Given the description of an element on the screen output the (x, y) to click on. 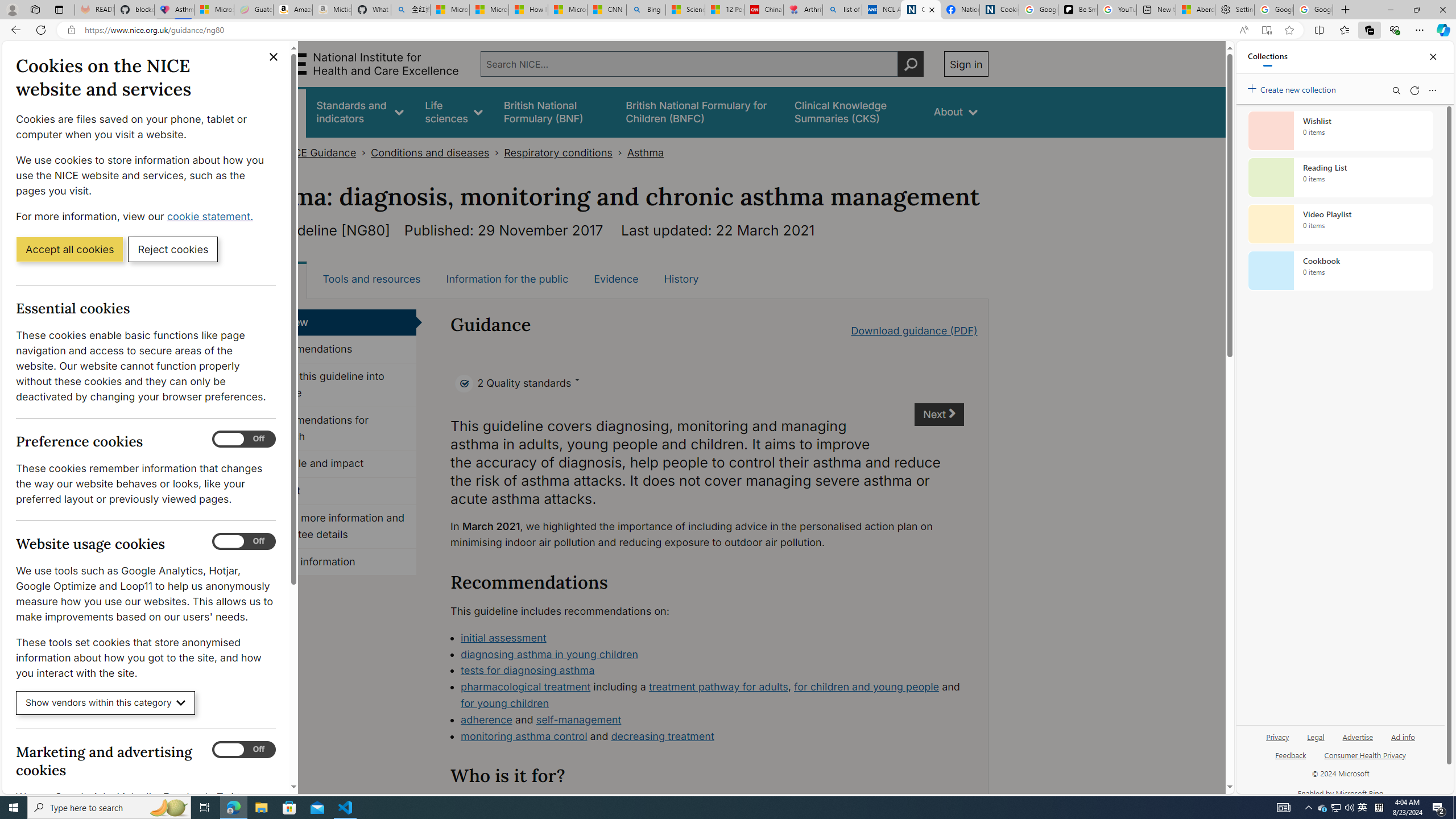
Rationale and impact (333, 463)
History (681, 279)
Next chapter (938, 414)
false (853, 111)
Tools and resources (370, 279)
Evidence (616, 279)
Asthma (644, 152)
